Given the description of an element on the screen output the (x, y) to click on. 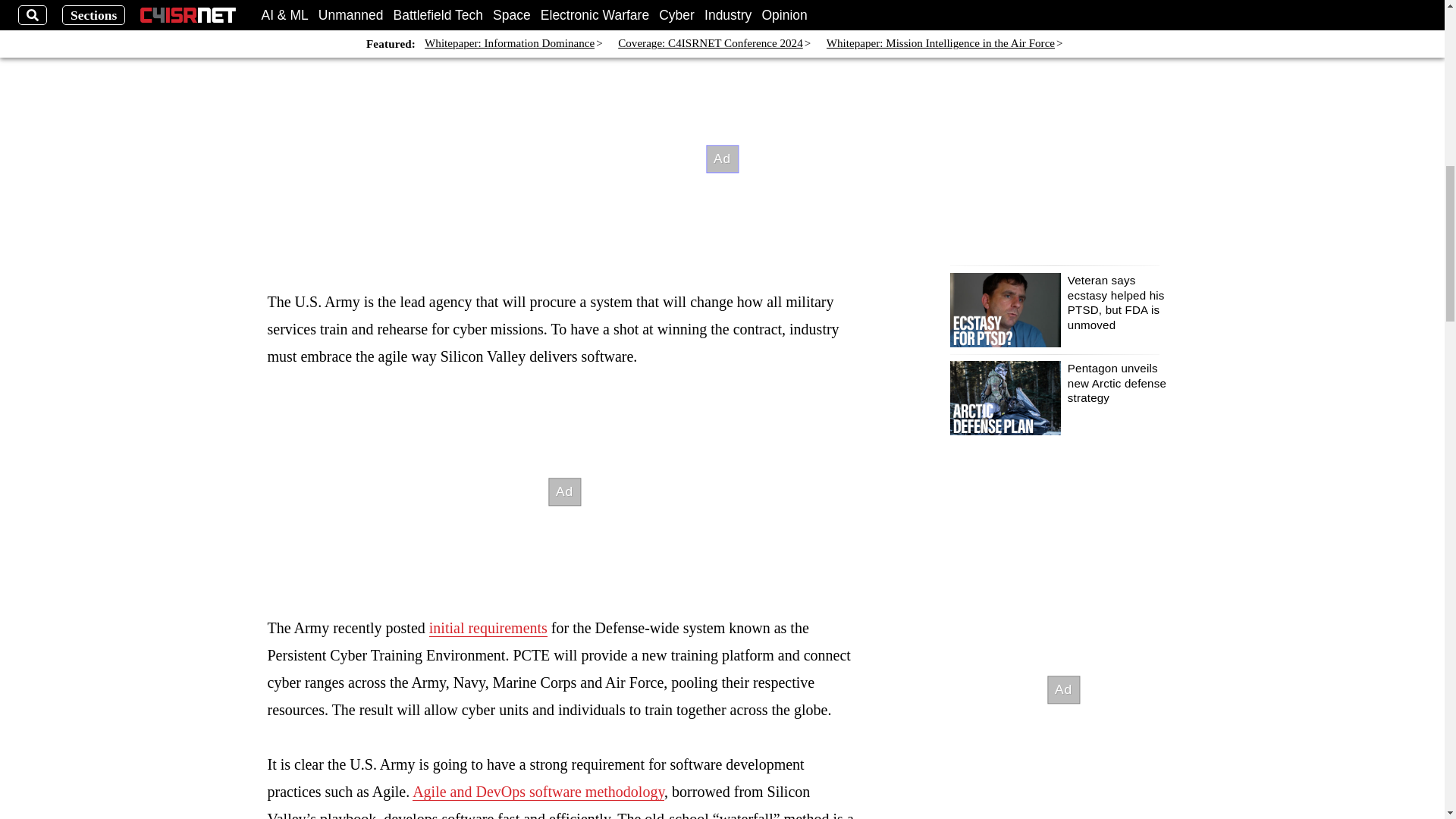
3rd party ad content (563, 492)
